Given the description of an element on the screen output the (x, y) to click on. 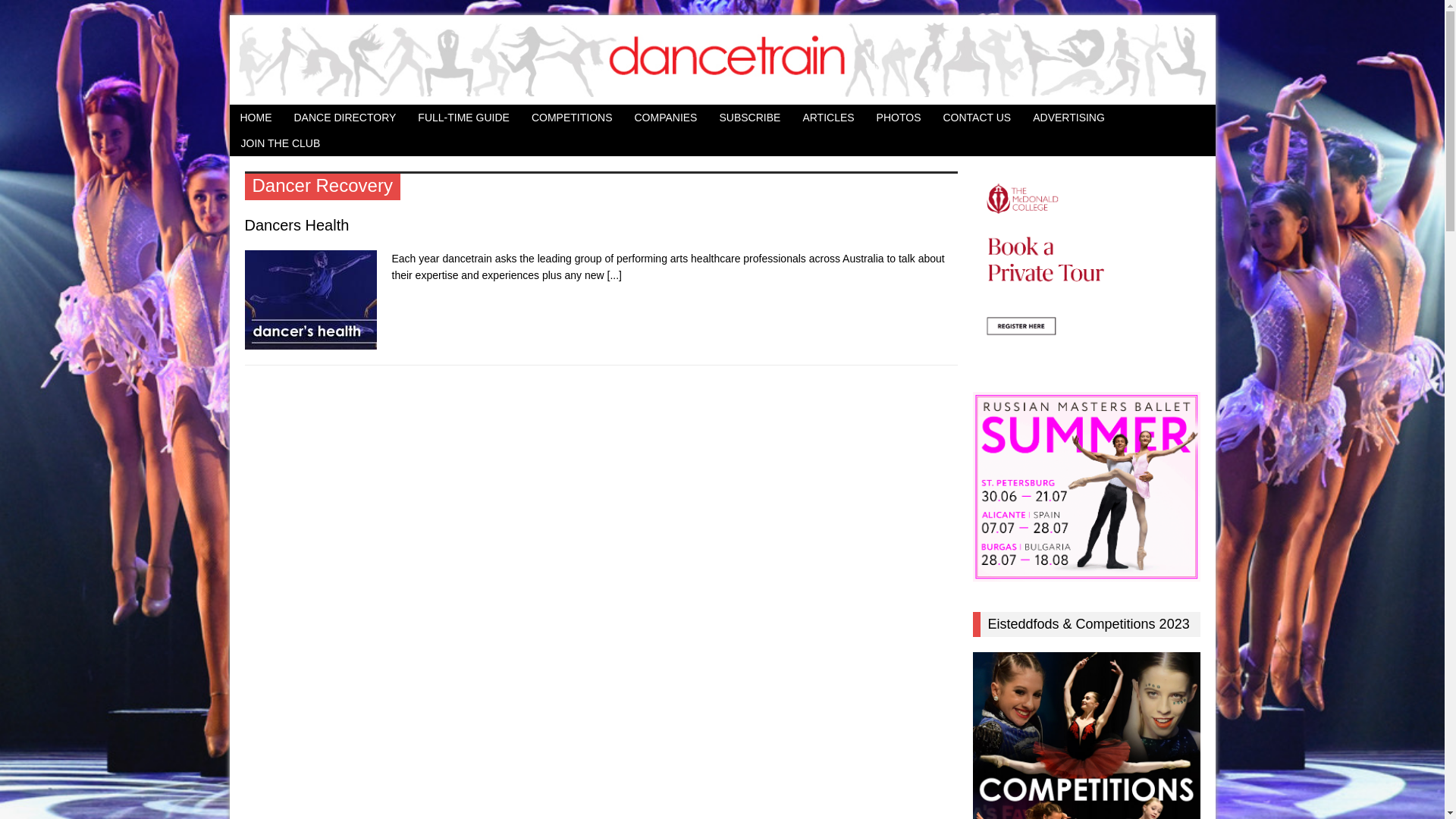
COMPANIES Element type: text (665, 117)
JOIN THE CLUB Element type: text (280, 143)
CONTACT US Element type: text (976, 117)
[...] Element type: text (614, 275)
Add to Cart Element type: text (36, 12)
FULL-TIME GUIDE Element type: text (463, 117)
SUBSCRIBE Element type: text (749, 117)
HOME Element type: text (255, 117)
DANCE DIRECTORY Element type: text (345, 117)
COMPETITIONS Element type: text (571, 117)
PHOTOS Element type: text (898, 117)
Dancers Health Element type: text (296, 224)
ADVERTISING Element type: text (1068, 117)
dancetrain magazine Element type: hover (721, 59)
ARTICLES Element type: text (827, 117)
